Given the description of an element on the screen output the (x, y) to click on. 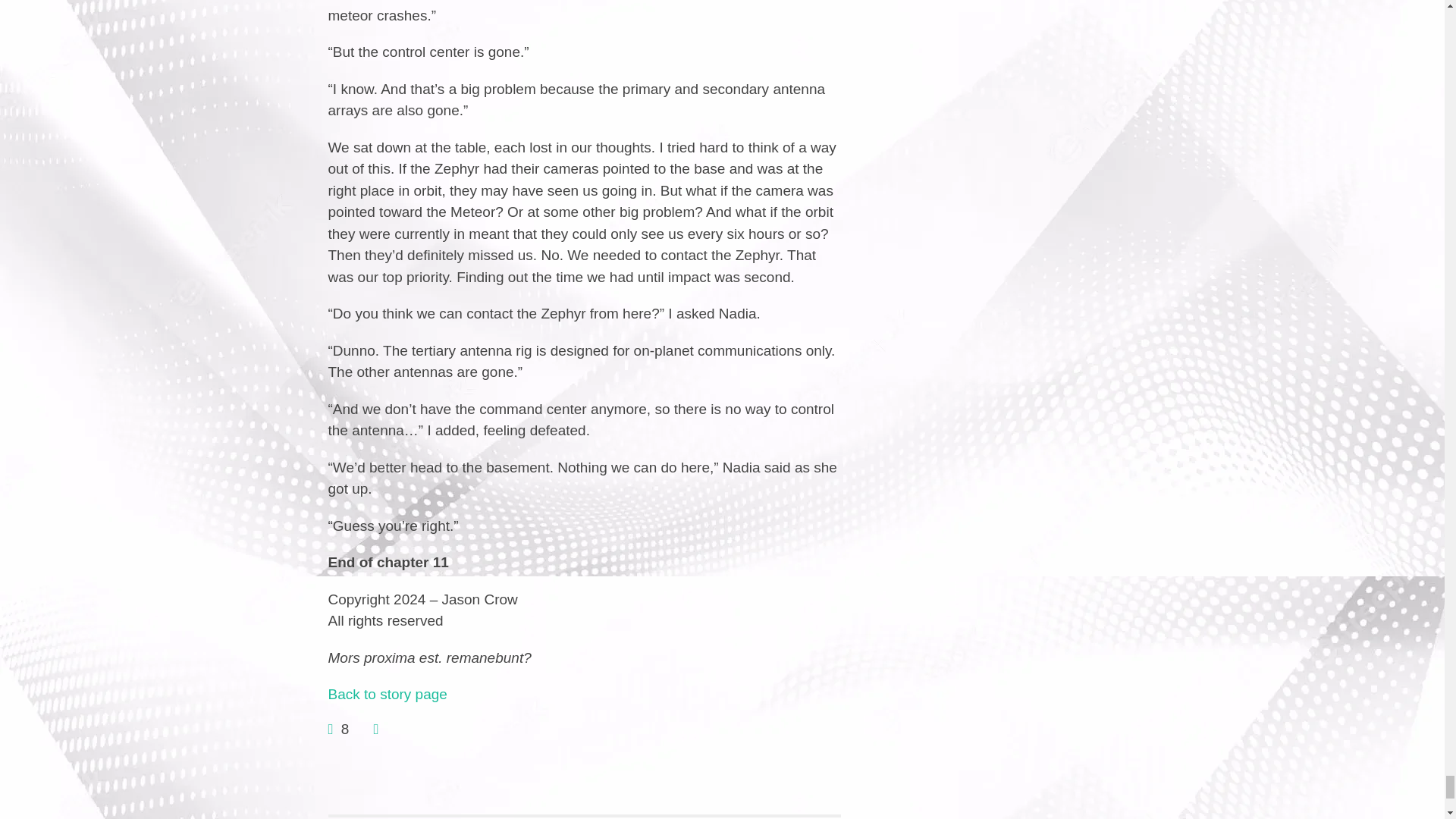
Aetheria (386, 693)
